Given the description of an element on the screen output the (x, y) to click on. 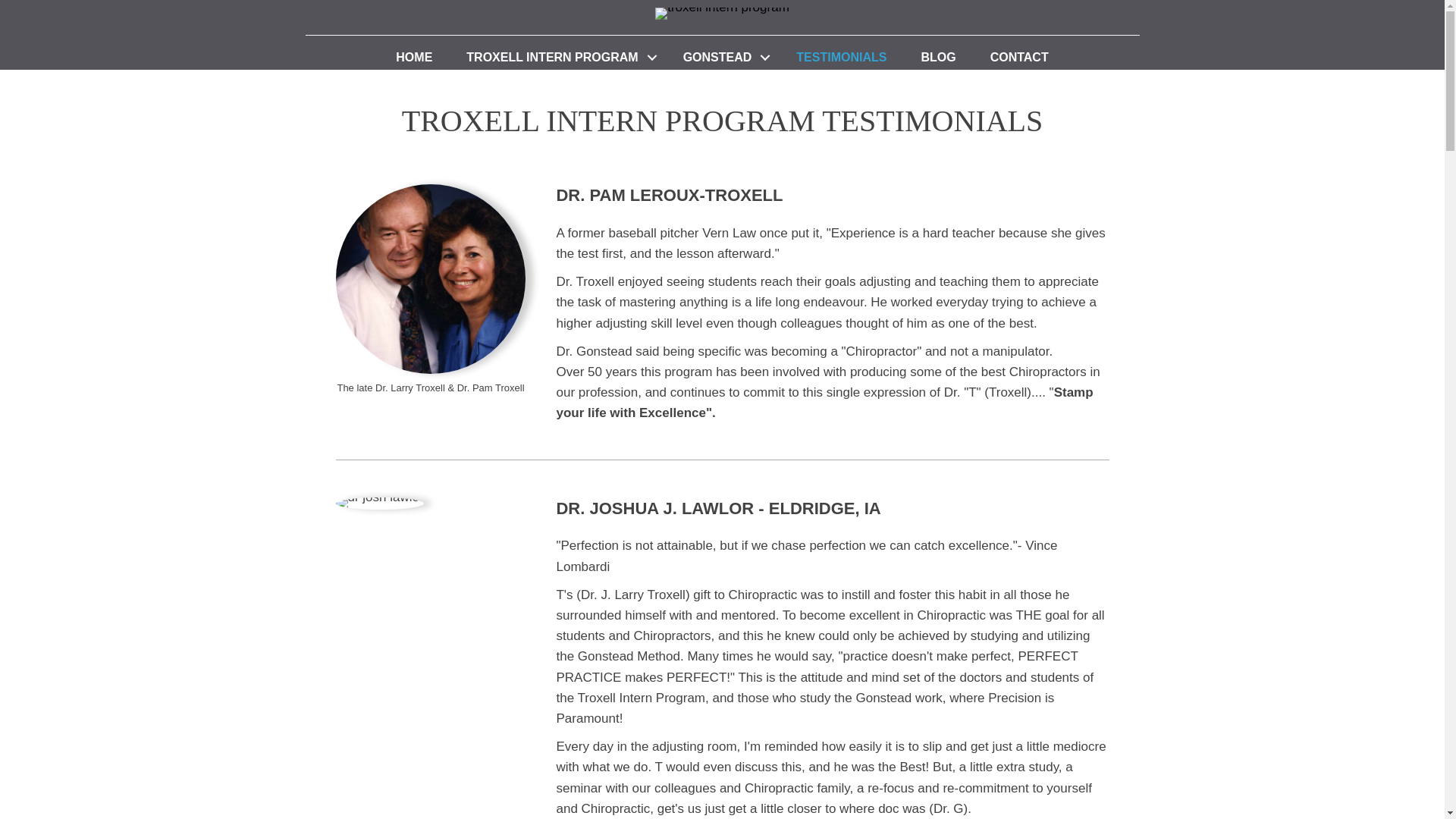
dr josh lawlor (378, 503)
BLOG (938, 57)
CONTACT (1019, 57)
drs-troxell (430, 278)
TROXELL INTERN PROGRAM (557, 57)
HOME (413, 57)
TESTIMONIALS (840, 57)
GONSTEAD (722, 57)
troxell intern program (722, 13)
